Given the description of an element on the screen output the (x, y) to click on. 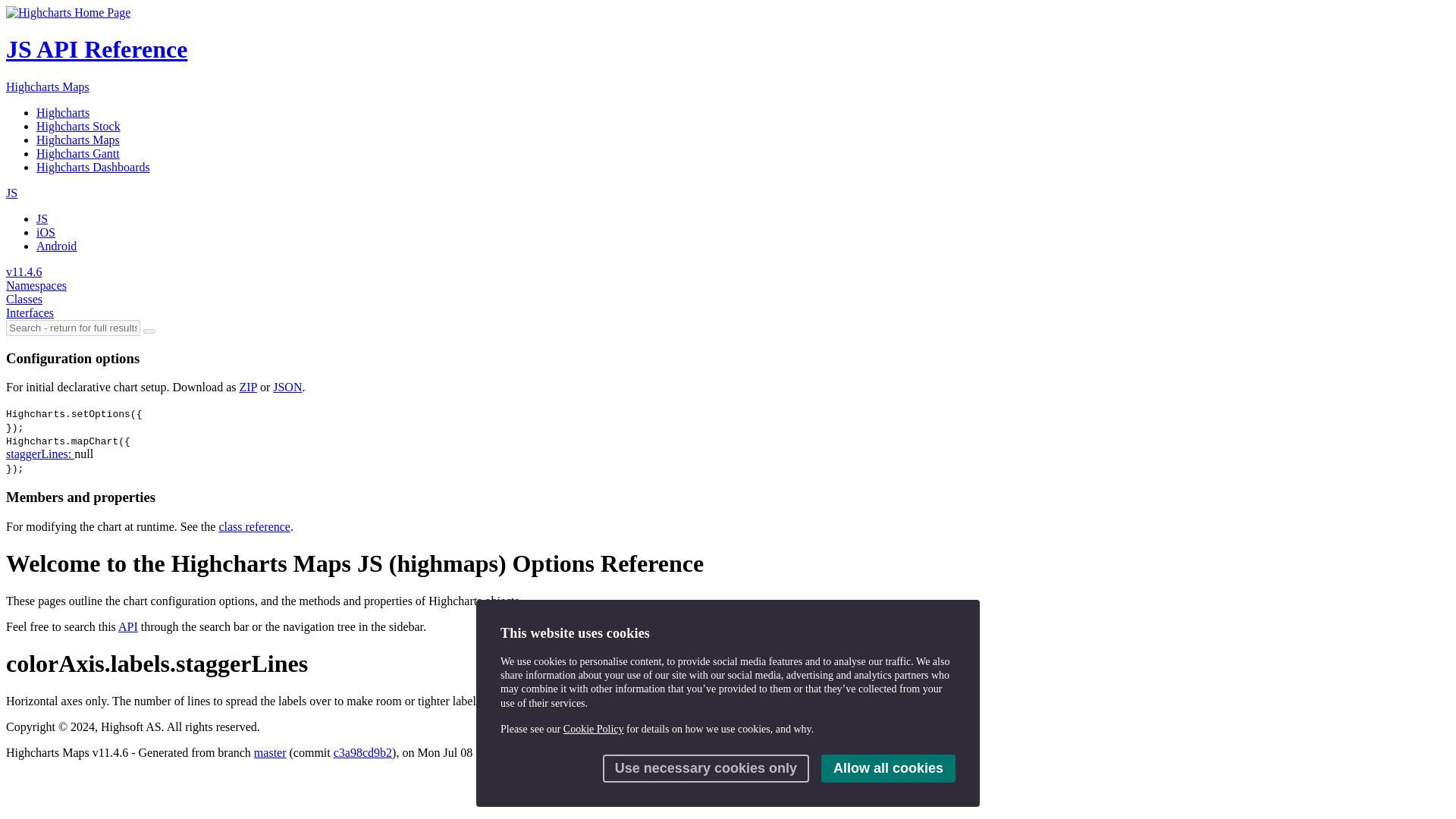
Cookie Policy (593, 728)
Namespaces (35, 285)
API (127, 626)
Android (56, 245)
staggerLines: (39, 453)
Classes (23, 298)
Full results (148, 331)
Highcharts Home Page (68, 11)
iOS (45, 232)
v11.4.6 (23, 271)
Highcharts Dashboards (92, 166)
JSON (287, 386)
Highcharts Maps (77, 139)
Highcharts (62, 112)
Highcharts Stock (78, 125)
